Given the description of an element on the screen output the (x, y) to click on. 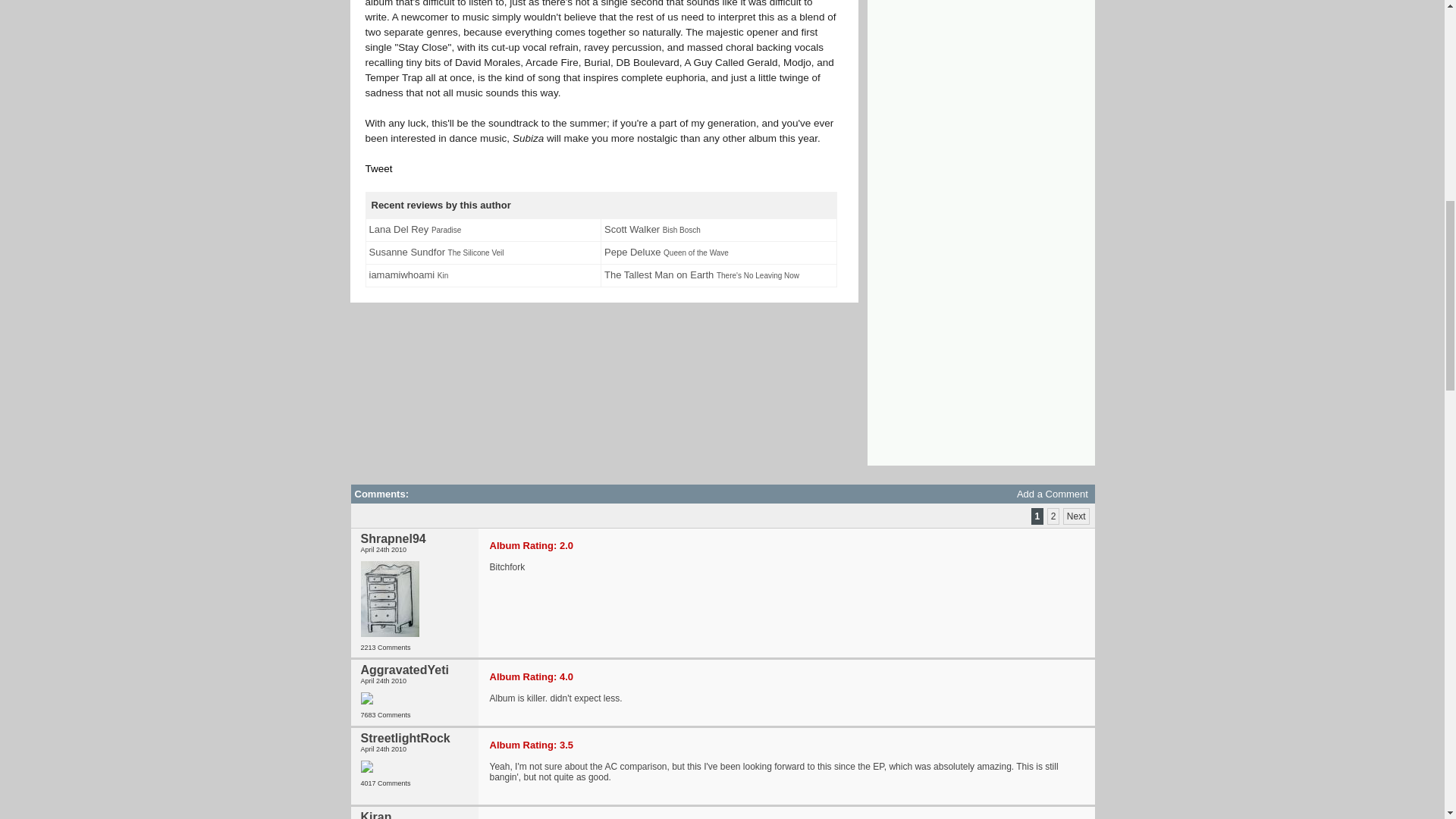
The Tallest Man on Earth There's No Leaving Now (701, 275)
Pepe Deluxe Queen of the Wave (666, 253)
Lana Del Rey Paradise (414, 230)
Susanne Sundfor The Silicone Veil (435, 253)
Scott Walker Bish Bosch (652, 230)
iamamiwhoami Kin (408, 275)
Tweet (379, 168)
Add a Comment (1051, 492)
